Given the description of an element on the screen output the (x, y) to click on. 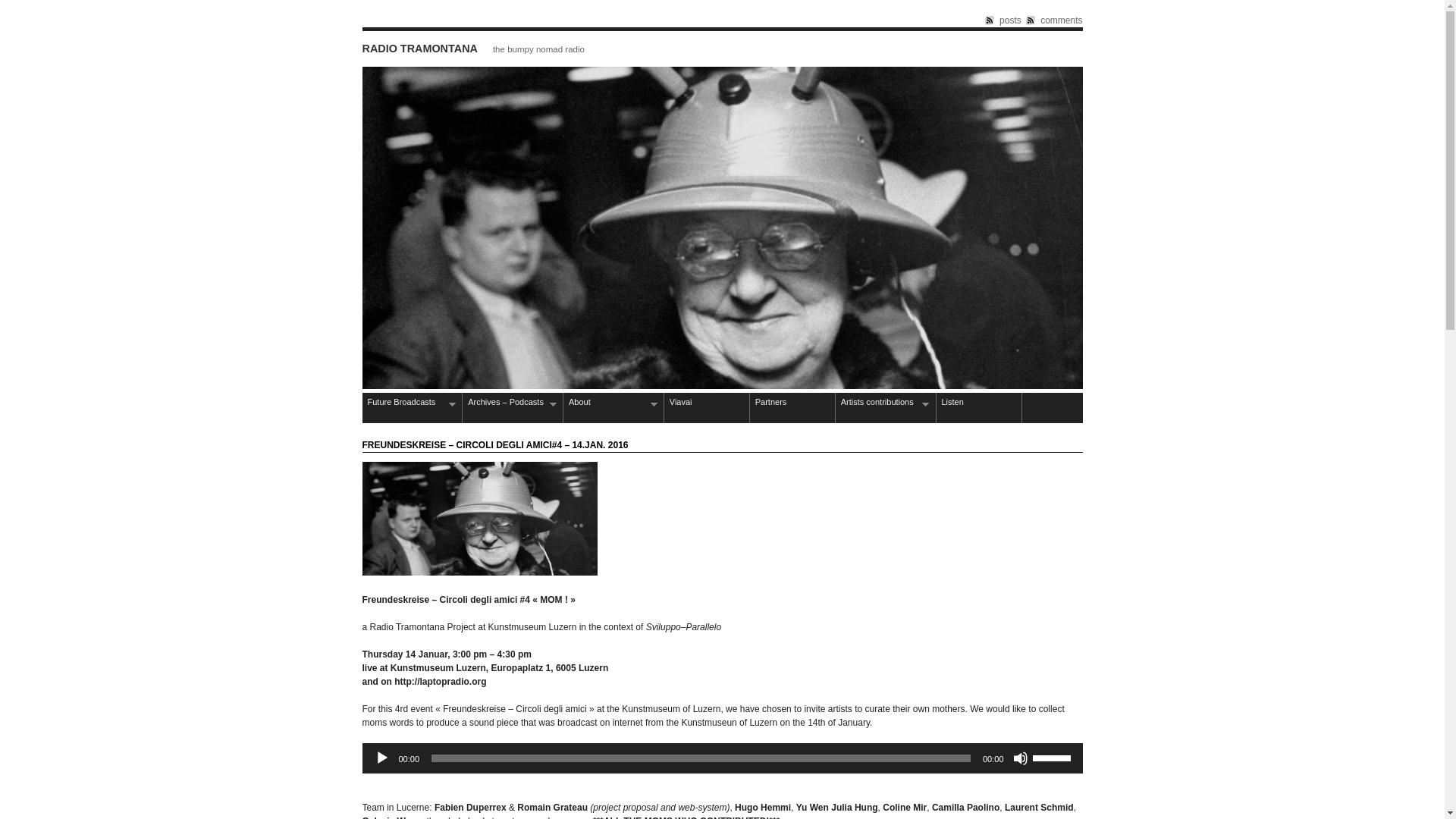
RADIO TRAMONTANA Element type: text (419, 48)
posts Element type: text (1003, 20)
Listen Element type: text (977, 407)
Partners Element type: text (791, 407)
Play Element type: hover (381, 757)
Mute Element type: hover (1020, 757)
Use Up/Down Arrow keys to increase or decrease volume. Element type: text (1053, 756)
comments Element type: text (1054, 20)
Viavai Element type: text (706, 407)
